Given the description of an element on the screen output the (x, y) to click on. 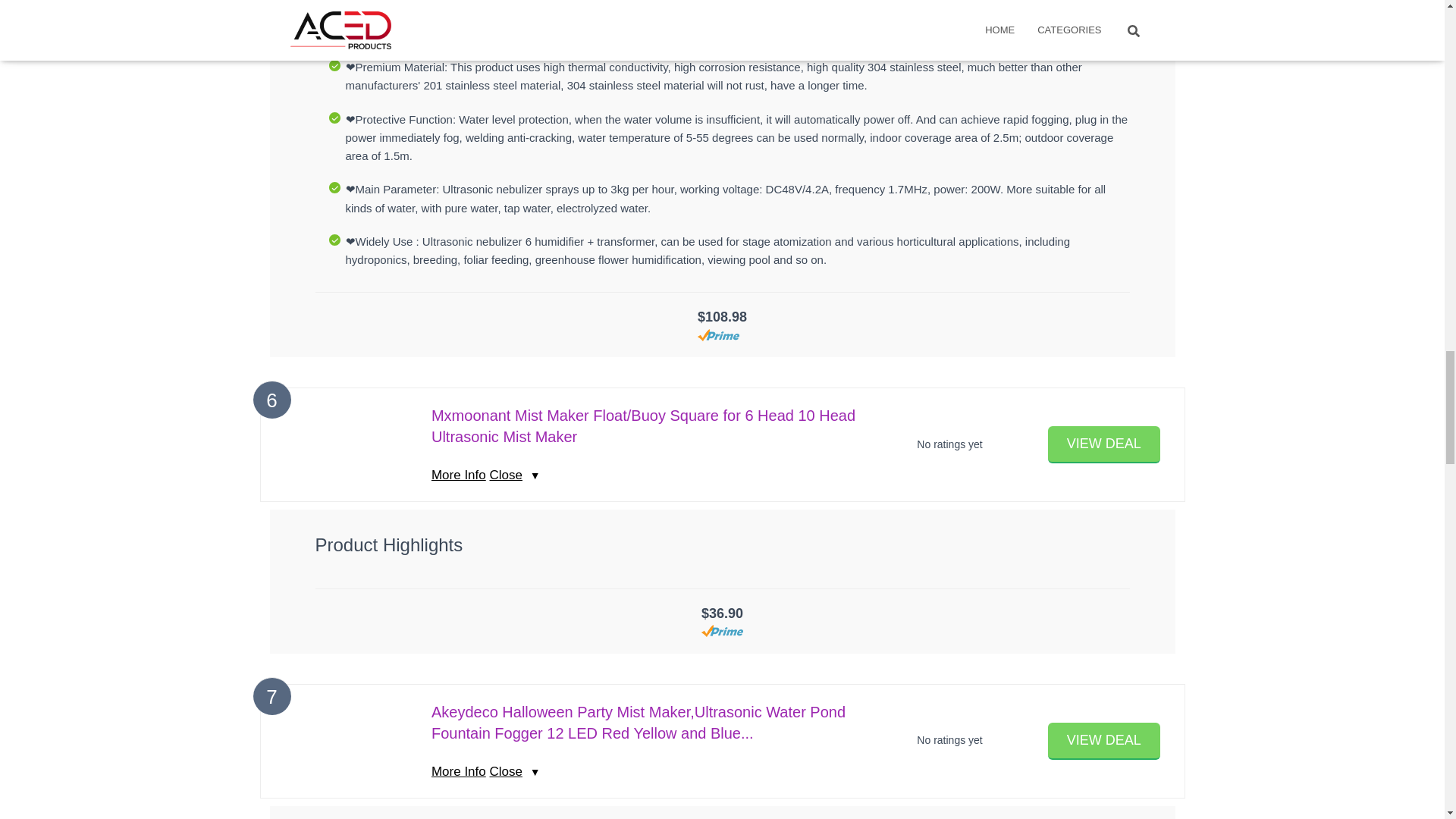
VIEW DEAL (1104, 741)
VIEW DEAL (1104, 444)
